Given the description of an element on the screen output the (x, y) to click on. 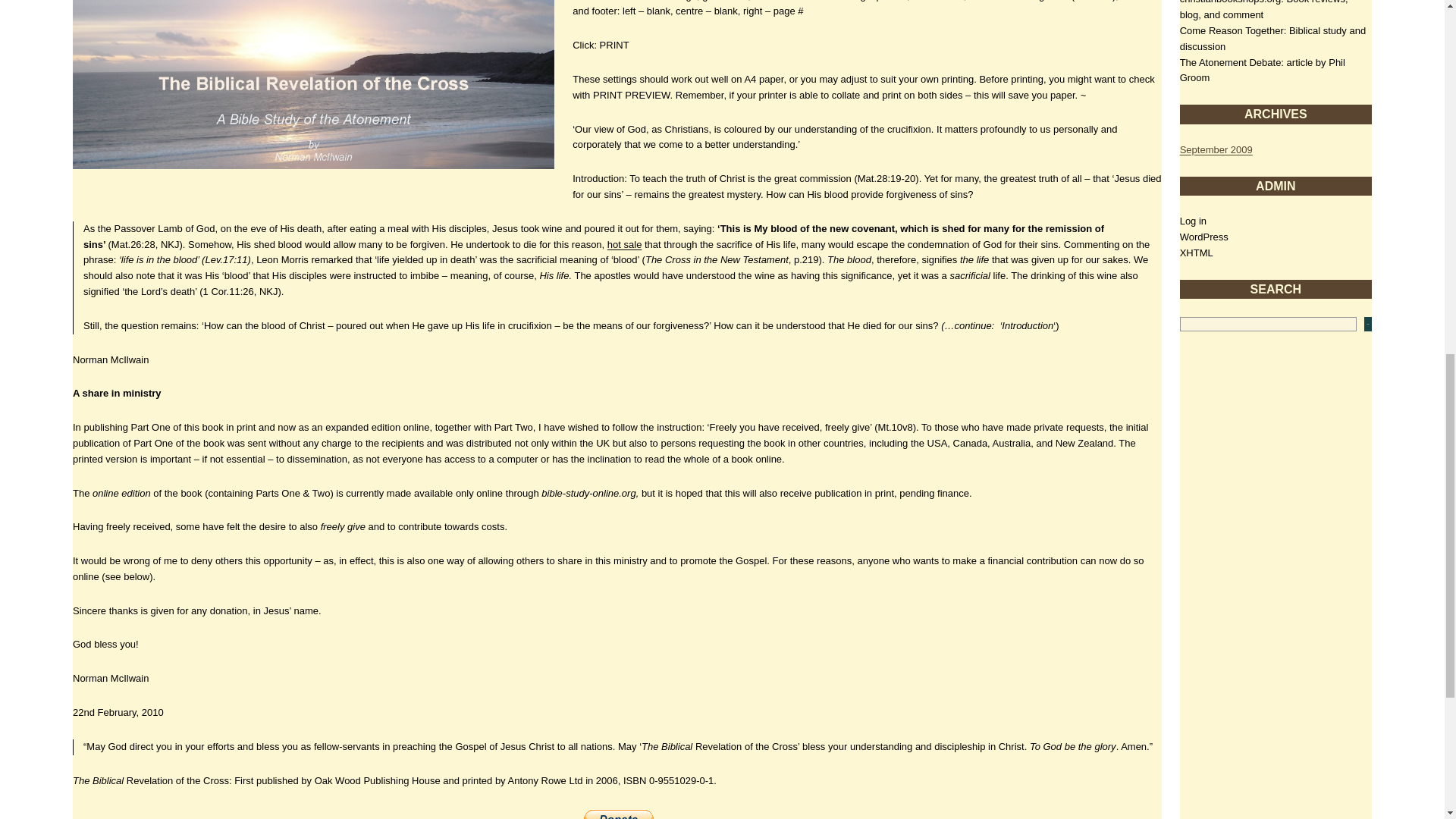
September 2009 (1215, 149)
hot sale (624, 244)
